Given the description of an element on the screen output the (x, y) to click on. 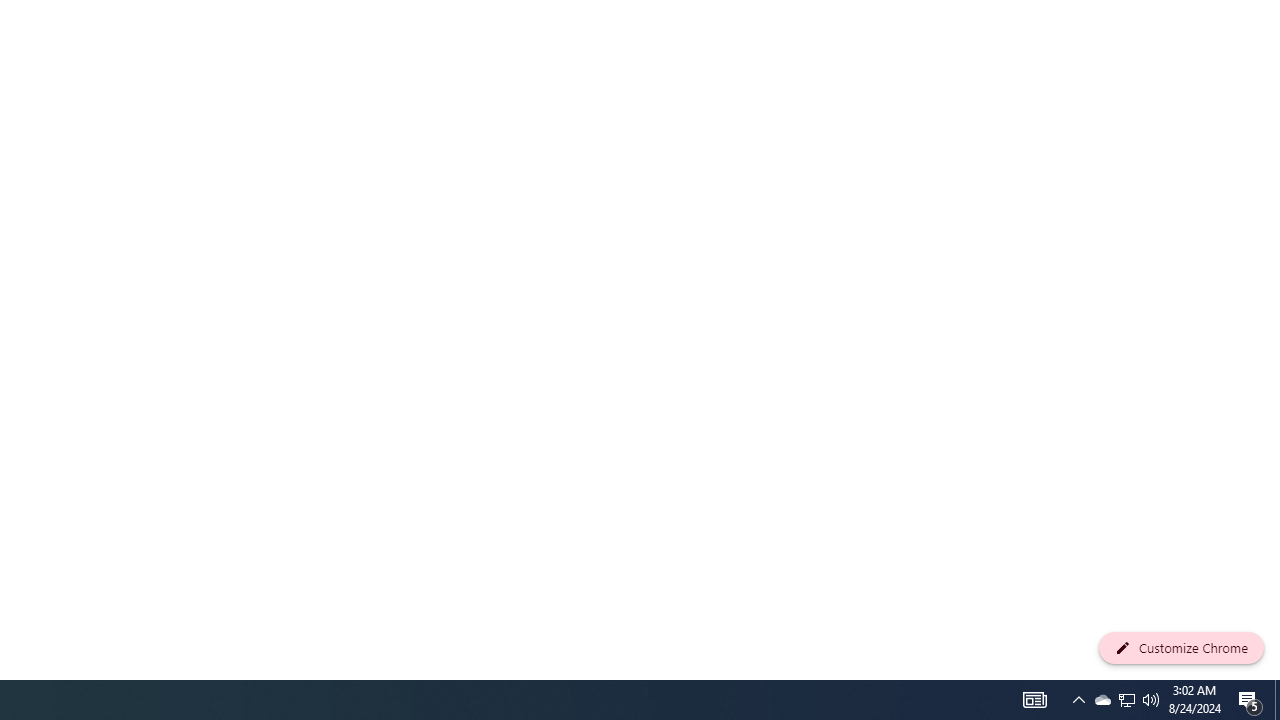
Customize Chrome (1181, 647)
